Given the description of an element on the screen output the (x, y) to click on. 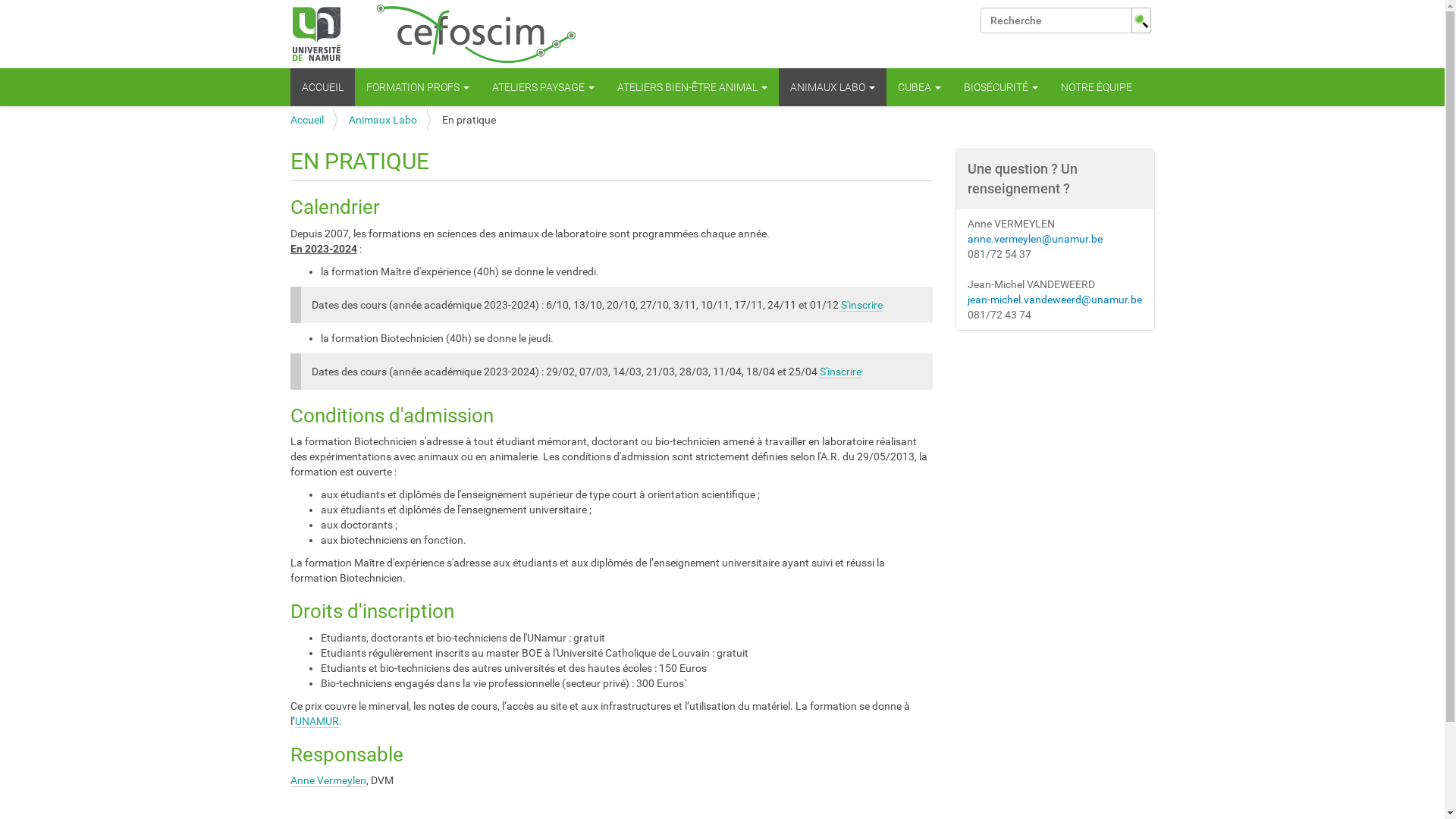
CeFoSciM Element type: hover (433, 33)
Recherche Element type: hover (1055, 20)
jean-michel.vandeweerd@unamur.be Element type: text (1054, 299)
Animaux Labo Element type: text (382, 119)
Anne Vermeylen Element type: text (327, 780)
ATELIERS PAYSAGE Element type: text (542, 87)
anne.vermeylen@unamur.be Element type: text (1034, 238)
ANIMAUX LABO Element type: text (831, 87)
FORMATION PROFS Element type: text (417, 87)
ACCUEIL Element type: text (321, 87)
UNAMUR Element type: text (316, 721)
S'inscrire Element type: text (860, 304)
CUBEA Element type: text (918, 87)
Accueil Element type: text (306, 119)
S'inscrire Element type: text (839, 371)
